Given the description of an element on the screen output the (x, y) to click on. 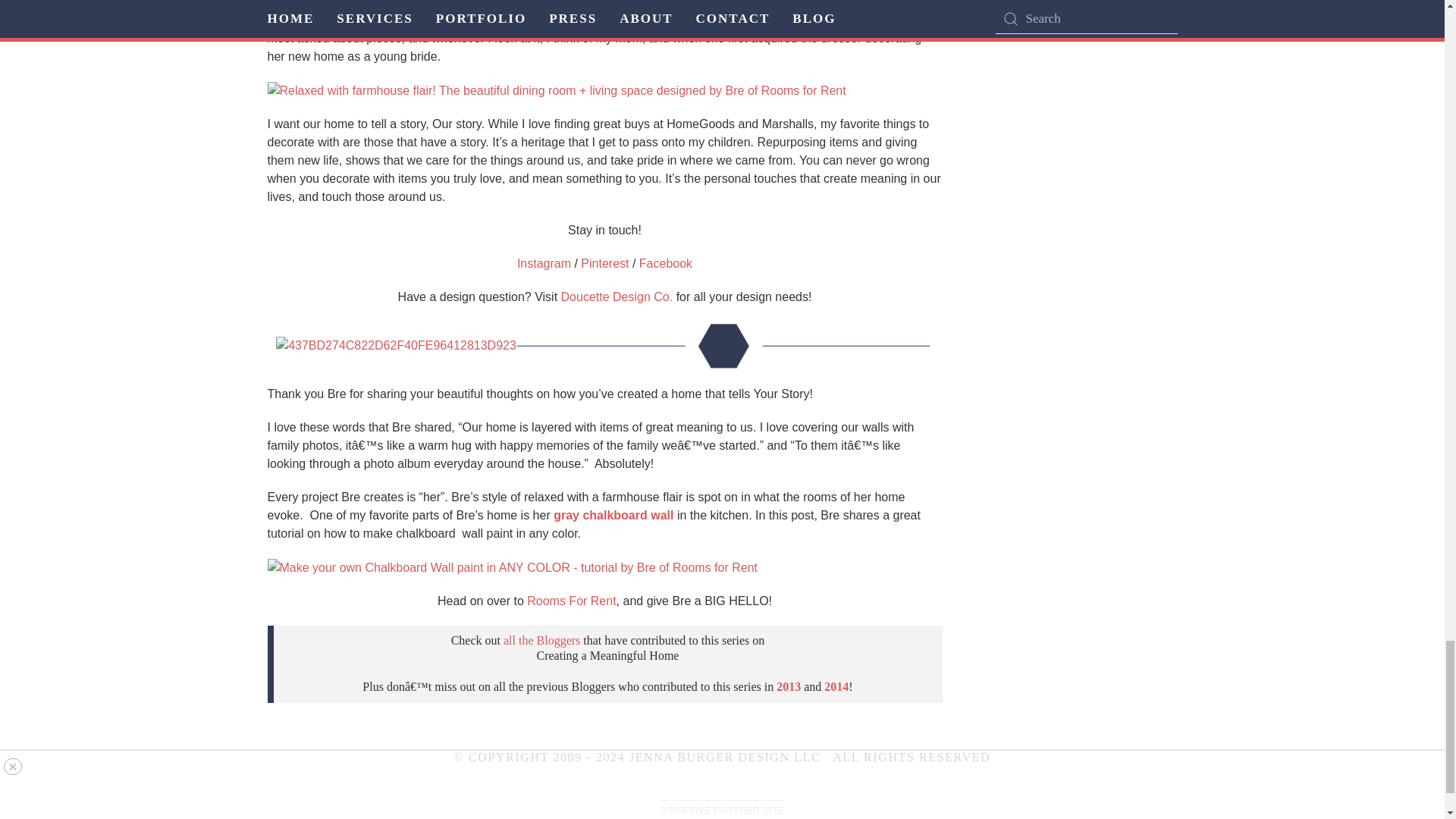
Instagram (543, 263)
gray chalkboard wall (612, 514)
Facebook (666, 263)
all the Bloggers (541, 640)
Pinterest (604, 263)
Doucette Design Co. (616, 296)
Rooms For Rent (571, 600)
